Given the description of an element on the screen output the (x, y) to click on. 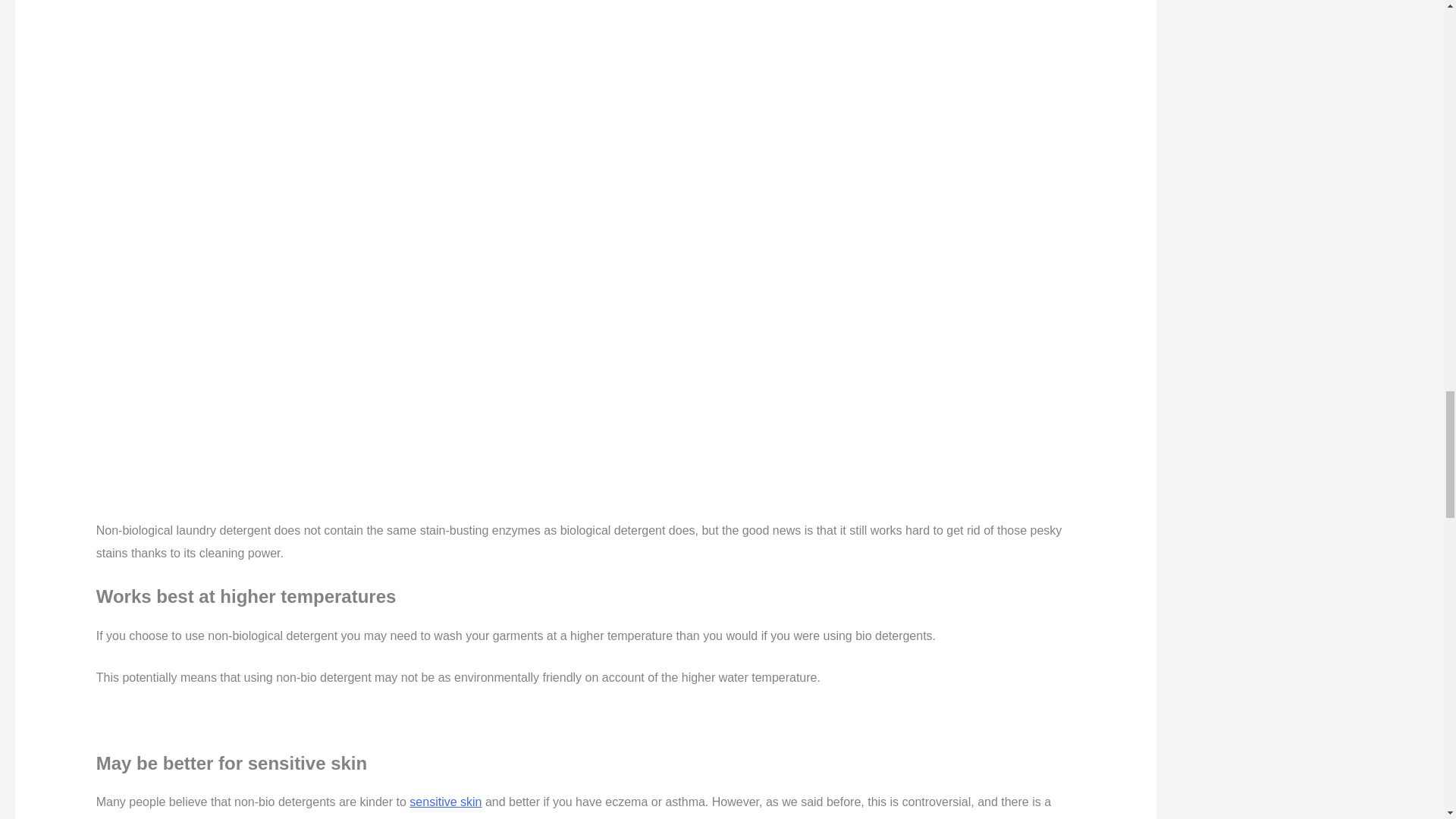
sensitive skin (445, 801)
